Given the description of an element on the screen output the (x, y) to click on. 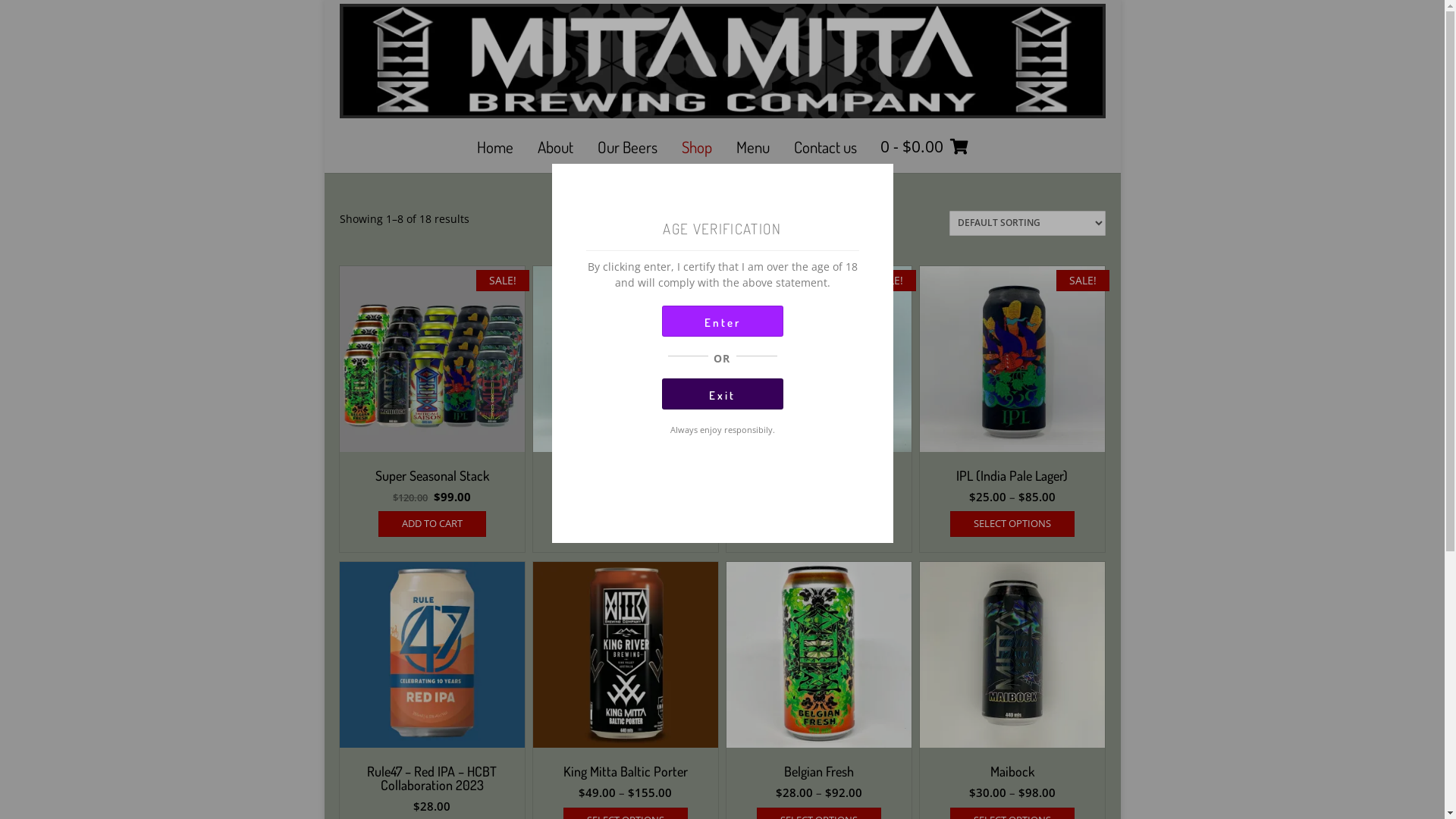
Exit Element type: text (721, 393)
Menu Element type: text (752, 148)
SALE!
Super Seasonal Stack
$120.00 $99.00 Element type: text (432, 398)
Our Beers Element type: text (627, 148)
Contact us Element type: text (825, 148)
SELECT OPTIONS Element type: text (1012, 523)
Shop Element type: text (696, 148)
Home Element type: text (494, 148)
SELECT OPTIONS Element type: text (818, 523)
Enter Element type: text (721, 320)
0 - $0.00 Element type: text (924, 148)
About Element type: text (555, 148)
SELECT OPTIONS Element type: text (625, 523)
ADD TO CART Element type: text (432, 523)
